Given the description of an element on the screen output the (x, y) to click on. 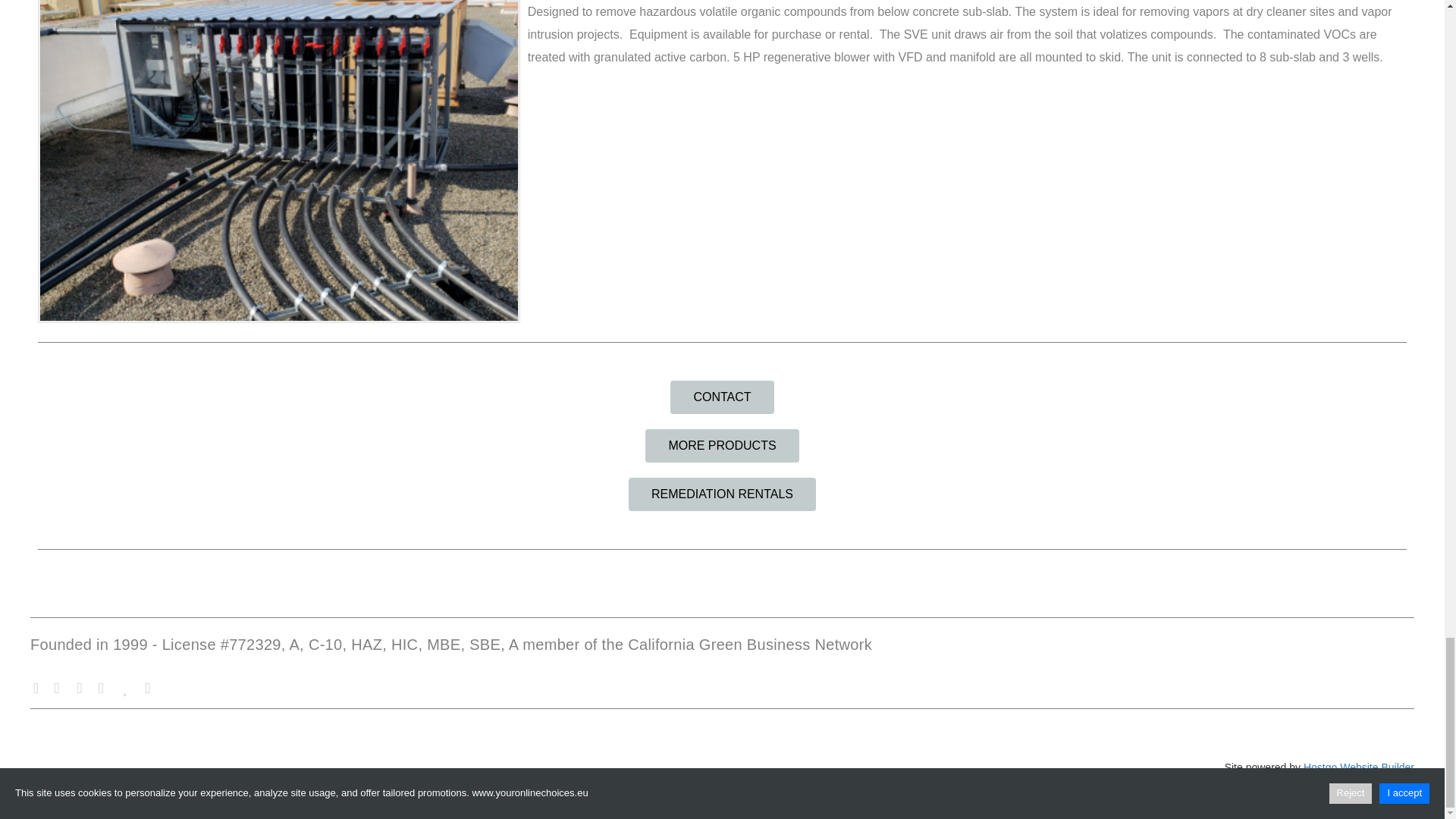
REMEDIATION RENTALS (721, 494)
CONTACT (721, 397)
MORE PRODUCTS (721, 445)
